Given the description of an element on the screen output the (x, y) to click on. 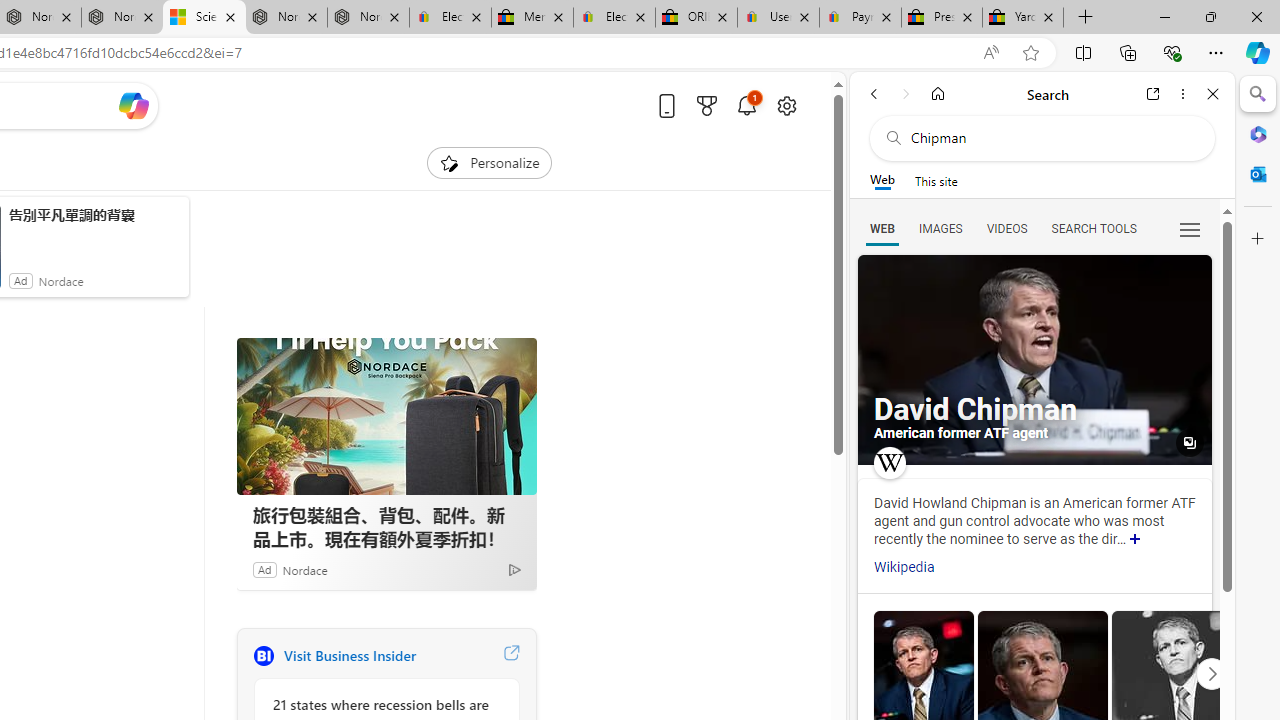
Search Filter, IMAGES (939, 228)
Show more (1135, 539)
Nordace - Summer Adventures 2024 (285, 17)
Wikipedia (904, 567)
User Privacy Notice | eBay (778, 17)
Yard, Garden & Outdoor Living (1023, 17)
Visit Business Insider website (511, 655)
Press Room - eBay Inc. (941, 17)
Preferences (1189, 228)
WEB   (882, 228)
